Given the description of an element on the screen output the (x, y) to click on. 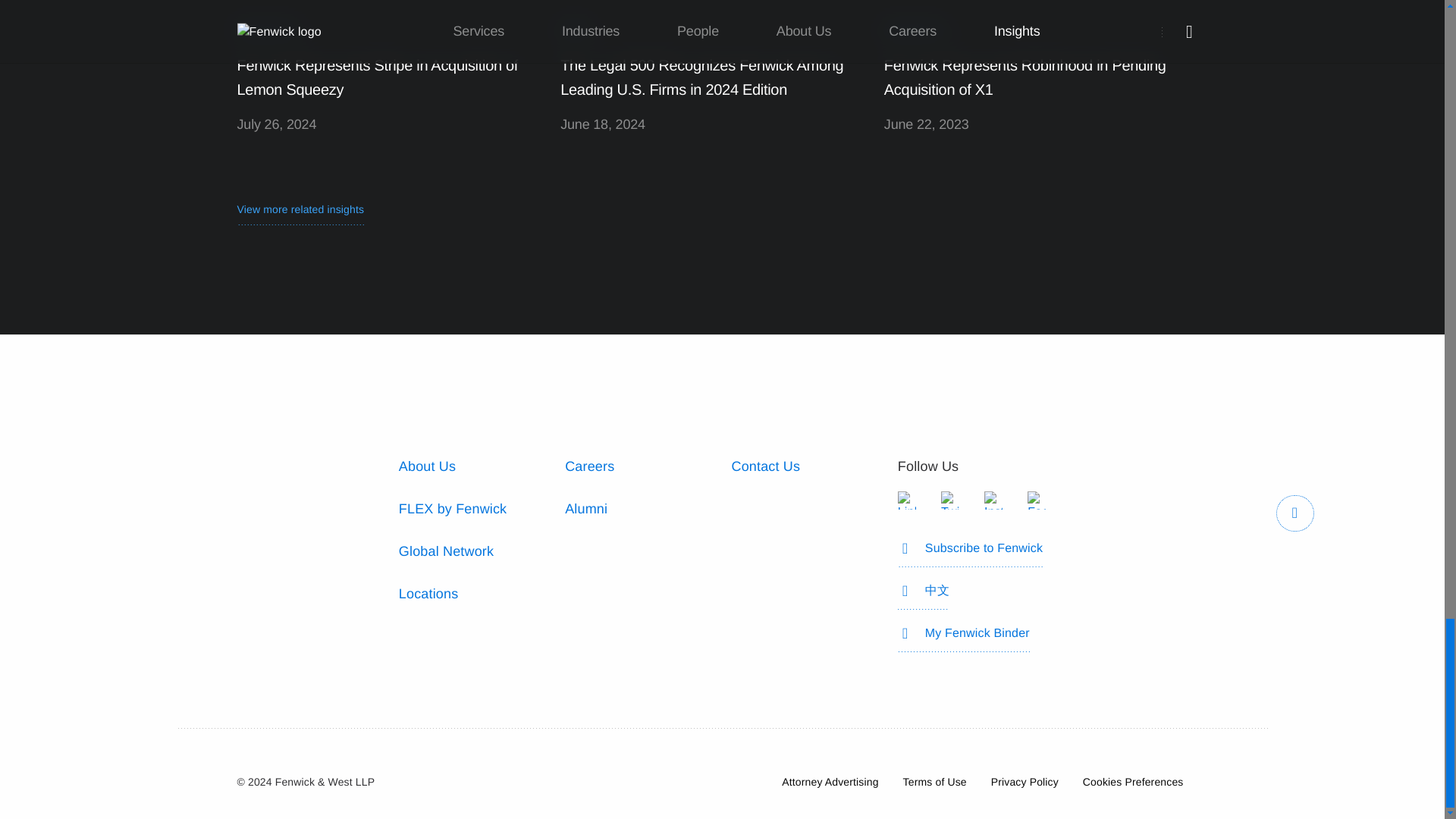
About Us (426, 466)
Careers (589, 466)
FLEX by Fenwick (452, 508)
Alumni (585, 508)
Contact Us (764, 466)
Global Network (445, 550)
Locations (428, 593)
